Given the description of an element on the screen output the (x, y) to click on. 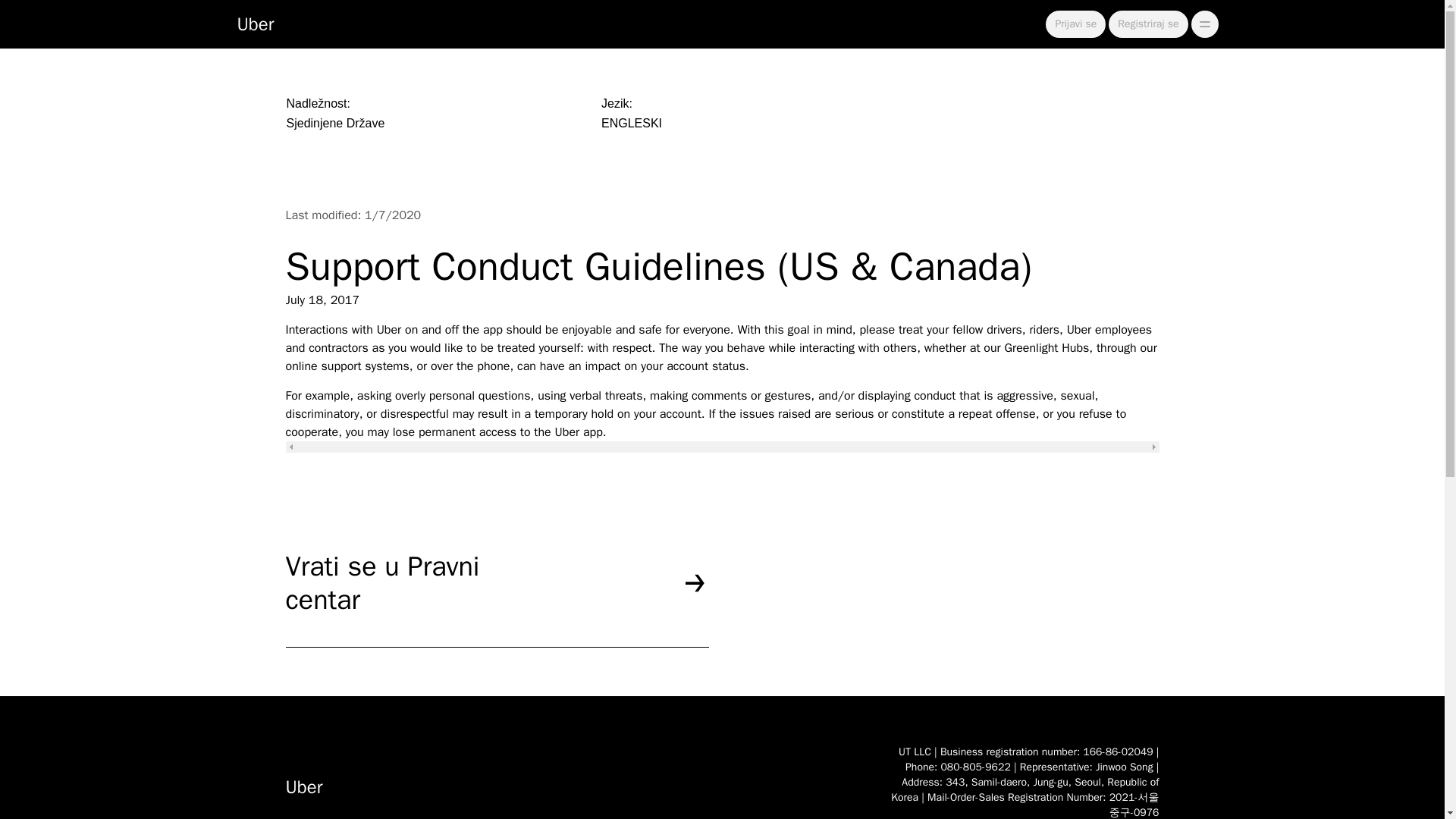
Prijavi se (1075, 23)
Vrati se u Pravni centar (496, 598)
, (1203, 24)
, (1204, 23)
Uber (572, 781)
Registriraj se (1148, 23)
Uber (254, 24)
